Given the description of an element on the screen output the (x, y) to click on. 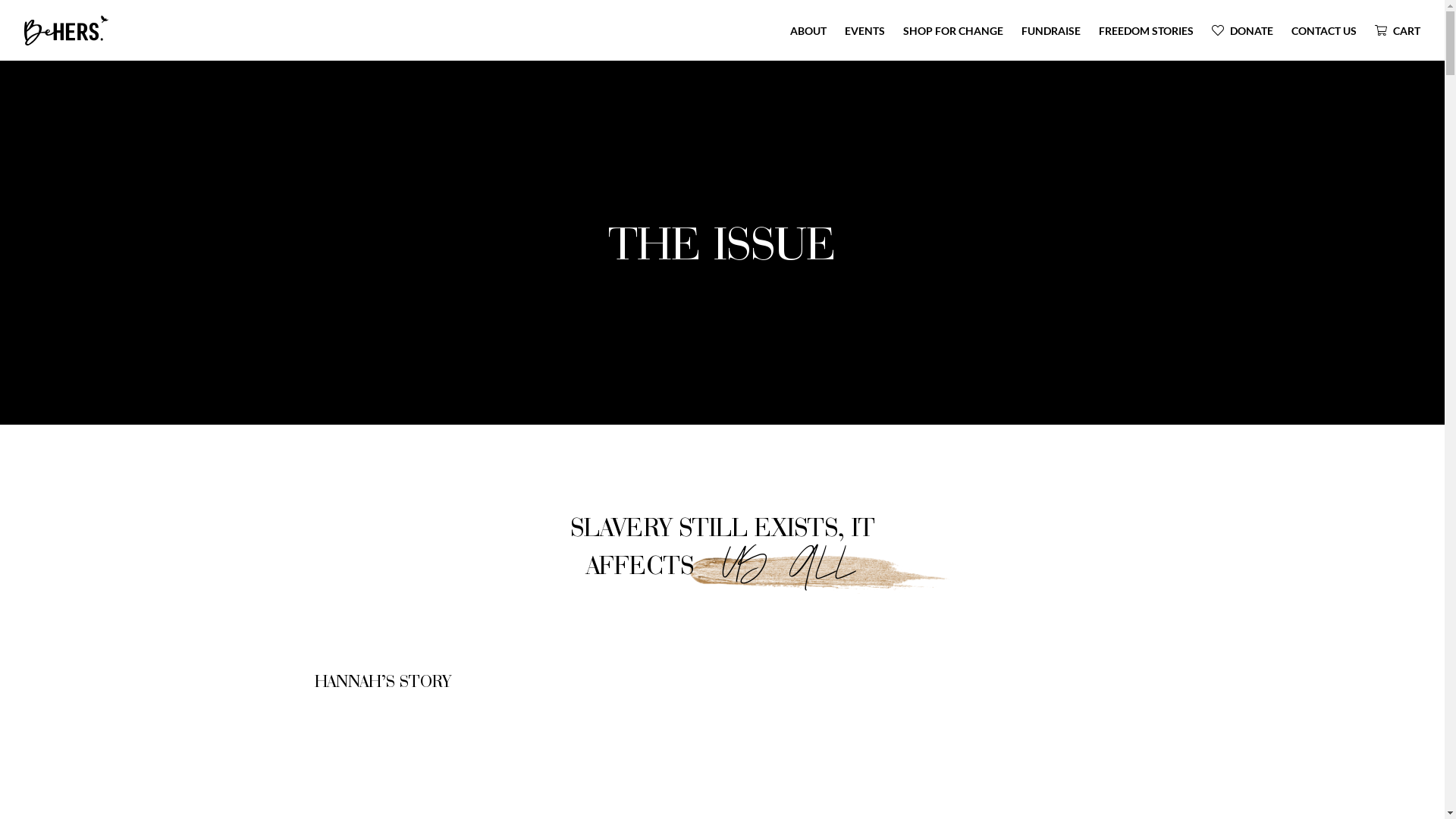
EVENTS Element type: text (864, 30)
ABOUT Element type: text (808, 30)
SHOP FOR CHANGE Element type: text (953, 30)
CART Element type: text (1397, 30)
FREEDOM STORIES Element type: text (1145, 30)
FUNDRAISE Element type: text (1050, 30)
CONTACT US Element type: text (1323, 30)
DONATE Element type: text (1242, 30)
